Given the description of an element on the screen output the (x, y) to click on. 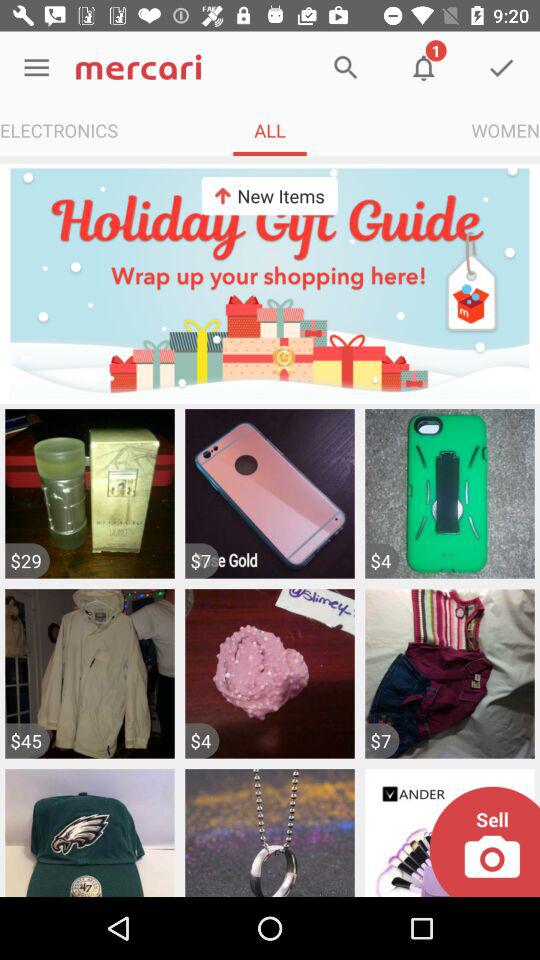
click new items (269, 196)
